Given the description of an element on the screen output the (x, y) to click on. 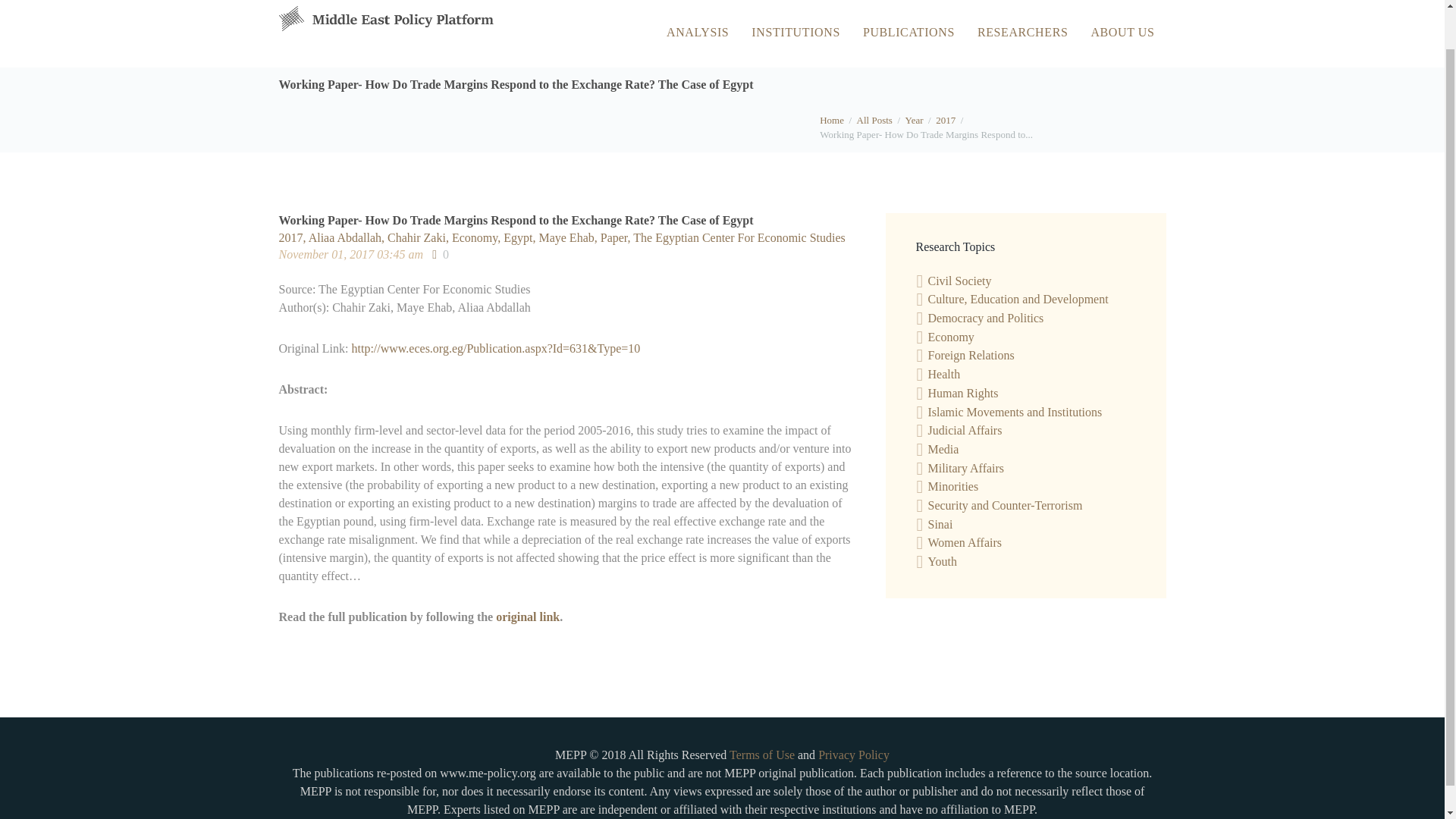
Human Rights (963, 392)
2017 (293, 237)
INSTITUTIONS (795, 32)
Islamic Movements and Institutions (1015, 410)
Judicial Affairs (965, 430)
Foreign Relations (971, 354)
All Posts (874, 119)
0 (440, 254)
Economy (951, 336)
Paper (616, 237)
